Given the description of an element on the screen output the (x, y) to click on. 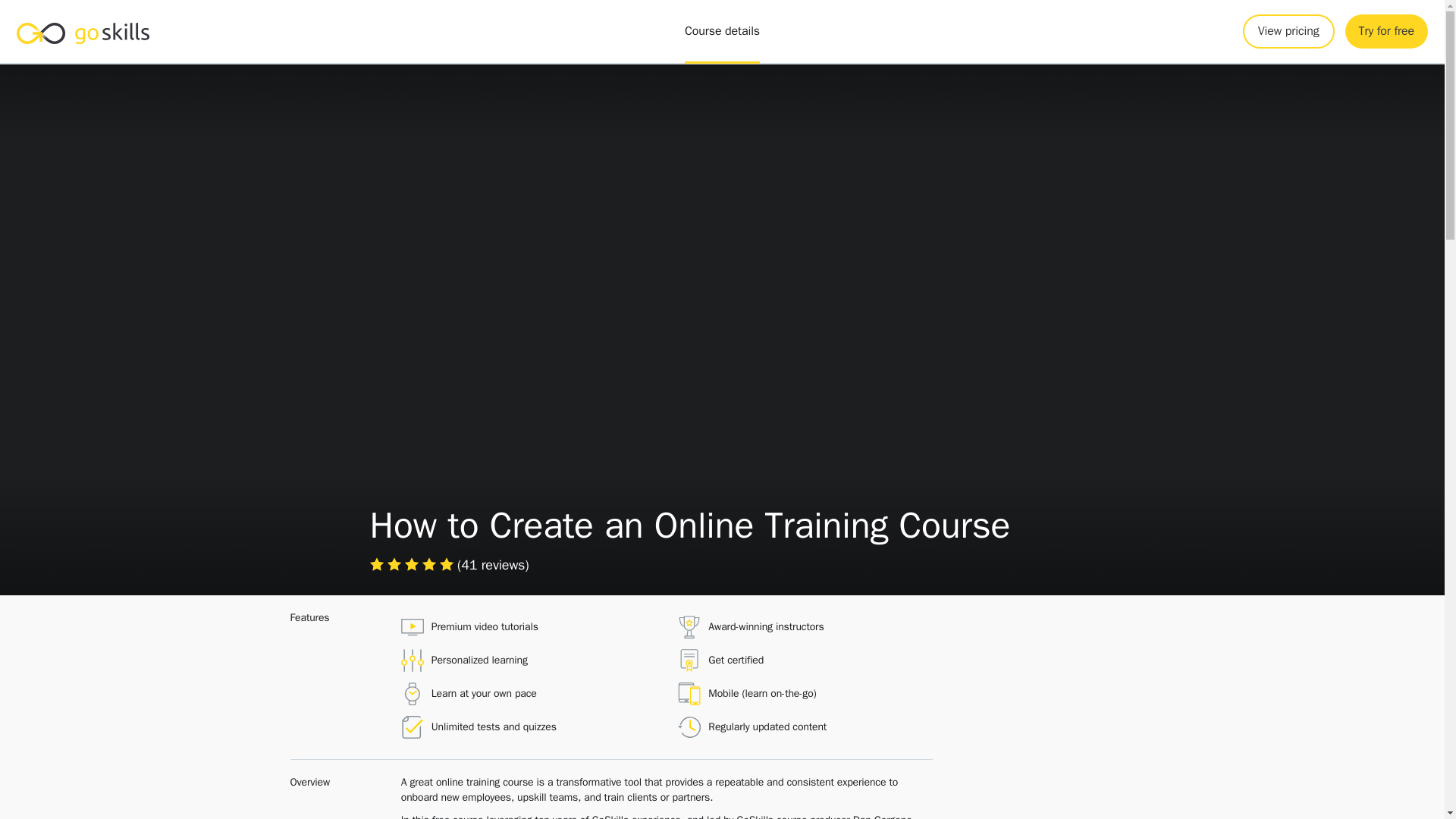
Testimonials (1386, 31)
View pricing (413, 564)
